Given the description of an element on the screen output the (x, y) to click on. 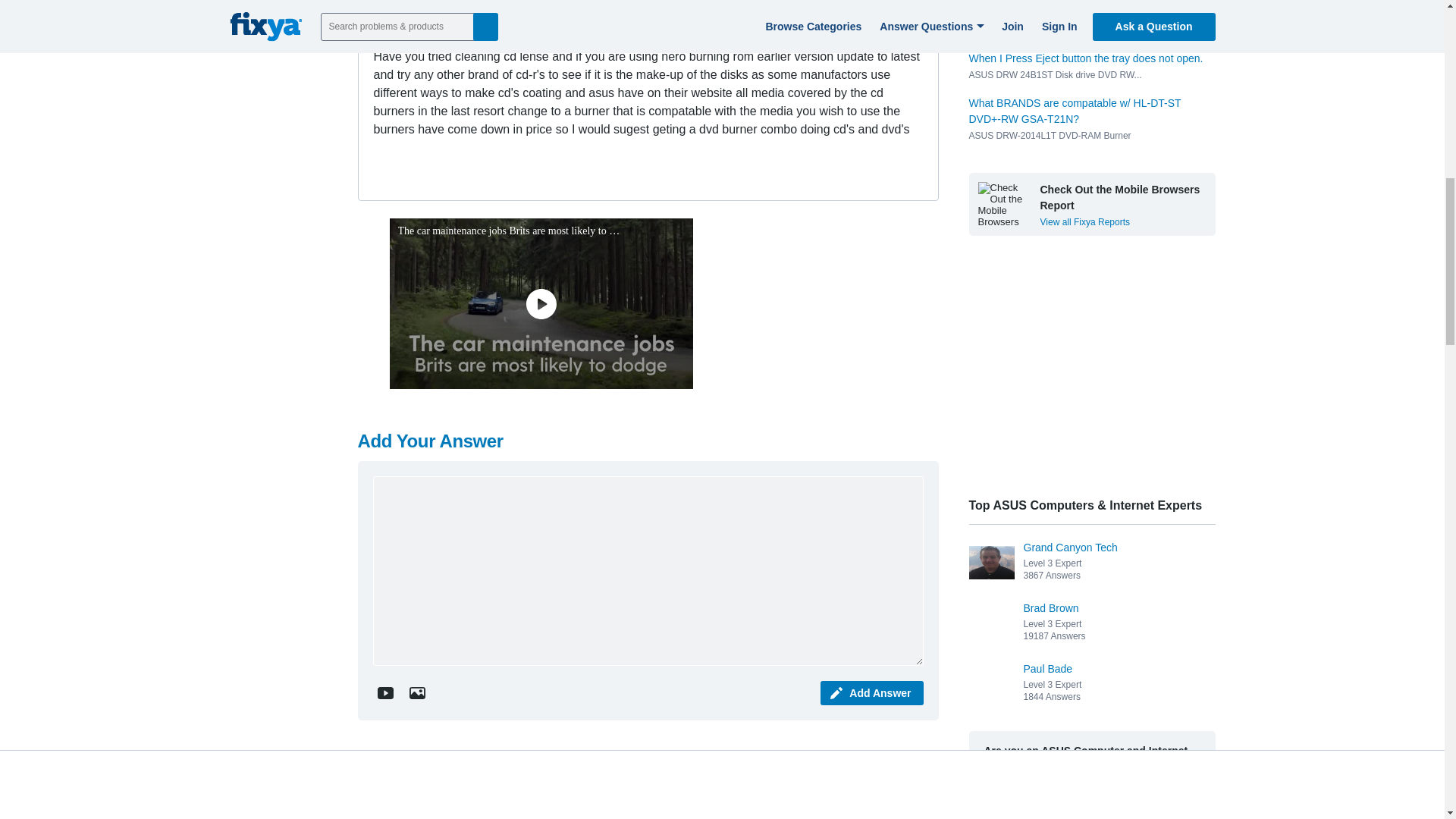
Add Answer (872, 692)
